Given the description of an element on the screen output the (x, y) to click on. 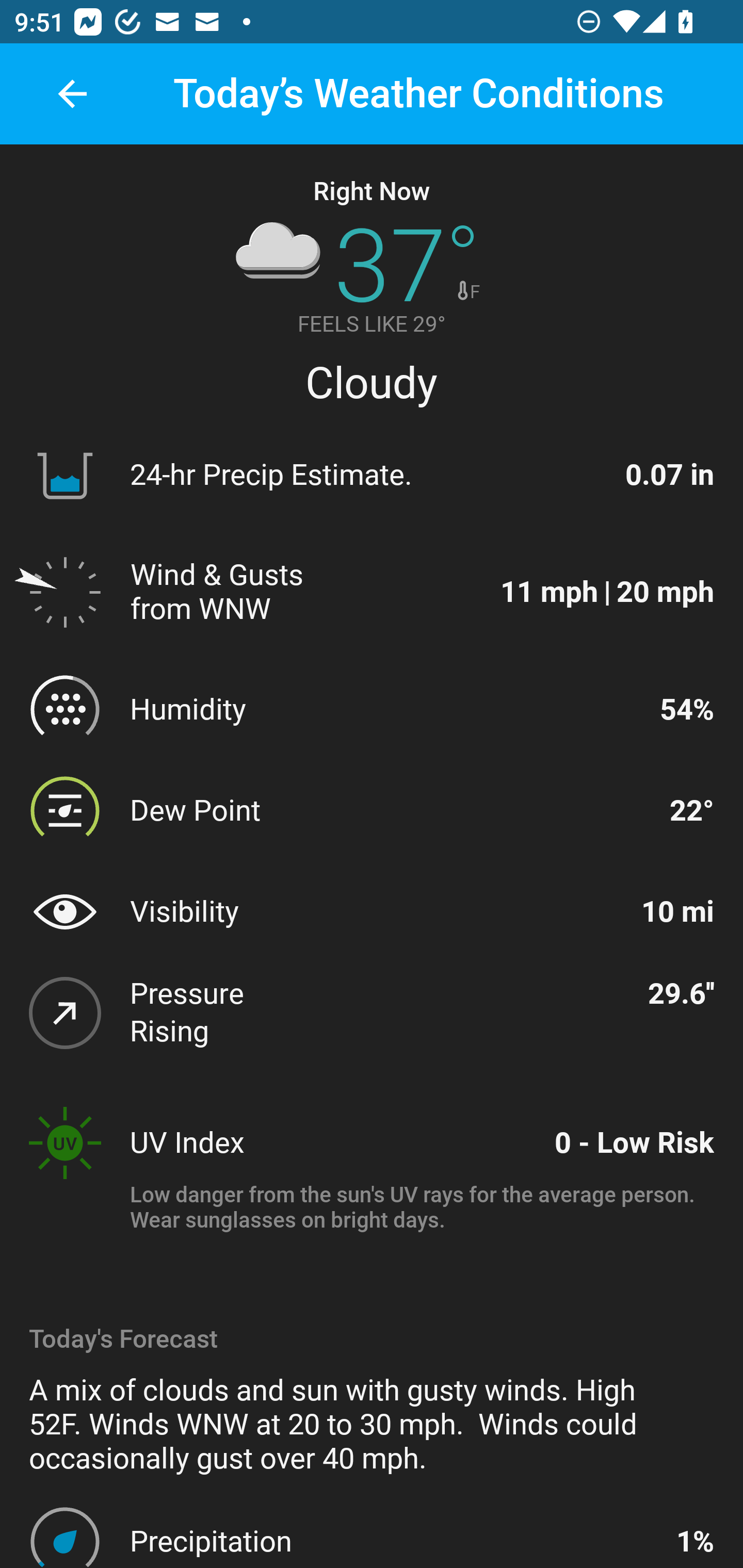
back (71, 93)
Precipitation (394, 1541)
1% (695, 1541)
